Given the description of an element on the screen output the (x, y) to click on. 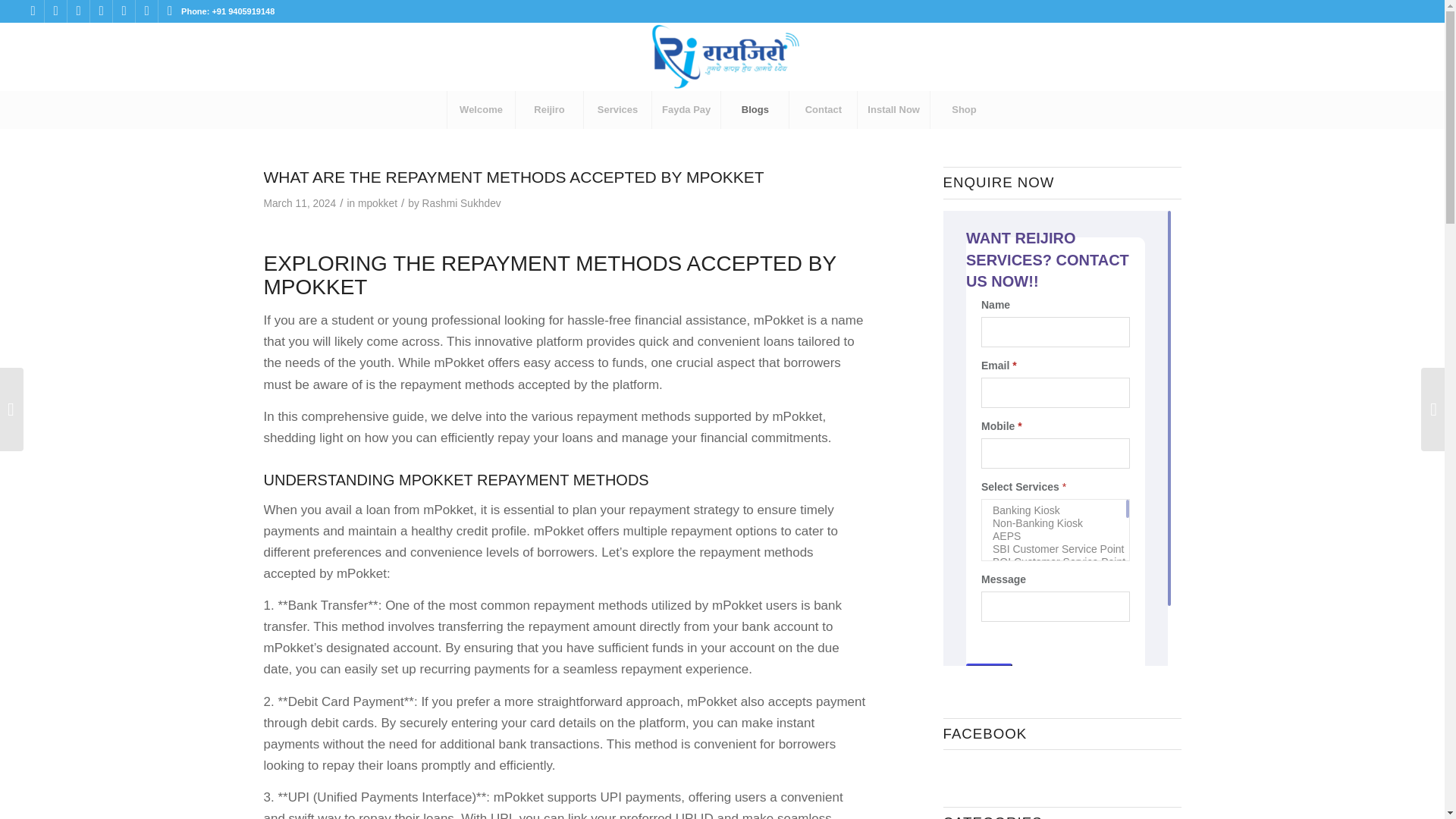
Contact (823, 109)
mpokket (377, 203)
Welcome (480, 109)
Blogs (754, 109)
Shop (963, 109)
Pinterest (146, 11)
Twitter (77, 11)
Services (616, 109)
Rashmi Sukhdev (461, 203)
Instagram (55, 11)
Facebook (32, 11)
Reijiro (549, 109)
LinkedIn (101, 11)
Posts by Rashmi Sukhdev (461, 203)
Install Now (893, 109)
